Given the description of an element on the screen output the (x, y) to click on. 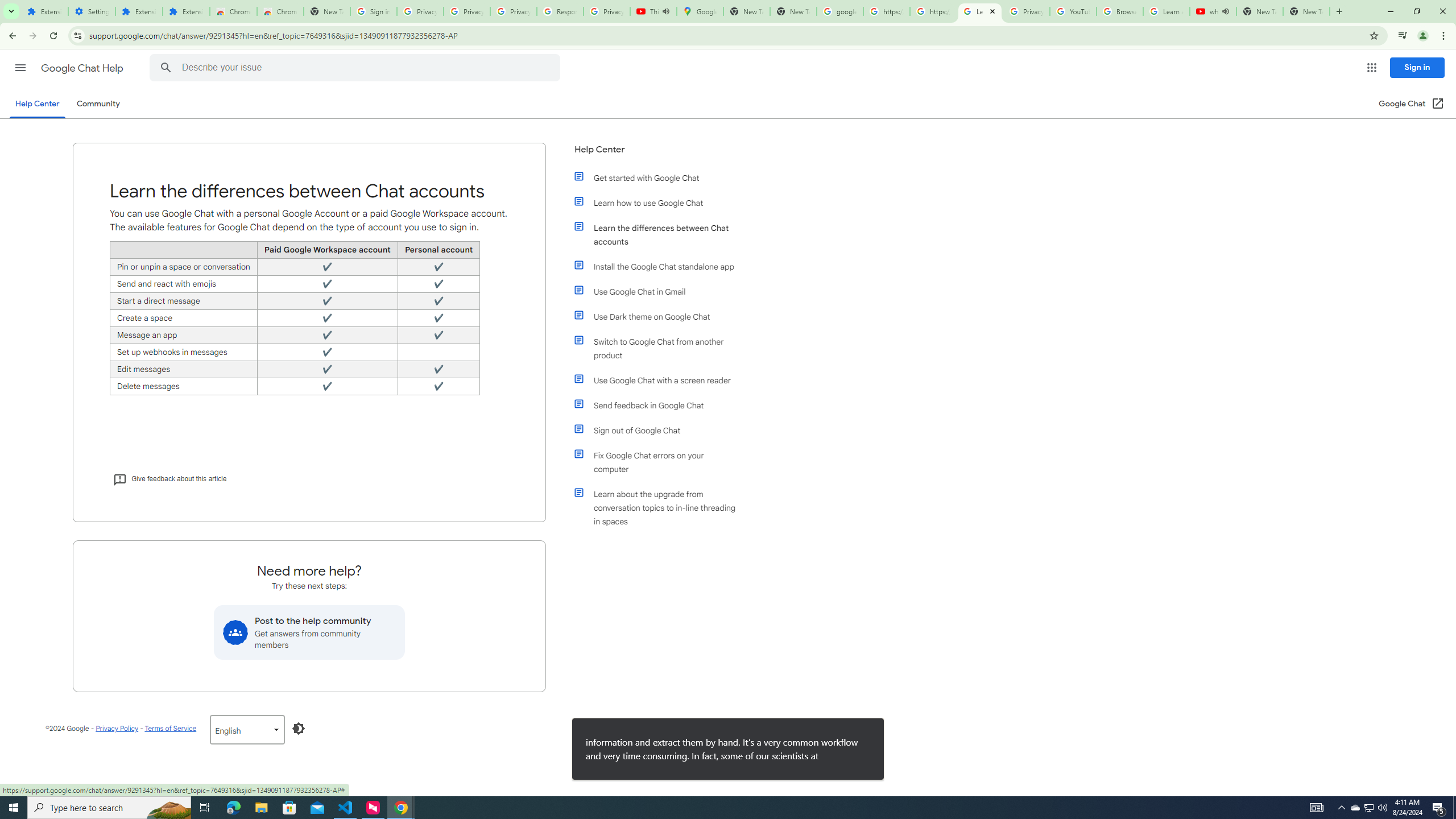
Search Help Center (165, 67)
https://scholar.google.com/ (886, 11)
Give feedback about this article (169, 478)
